Given the description of an element on the screen output the (x, y) to click on. 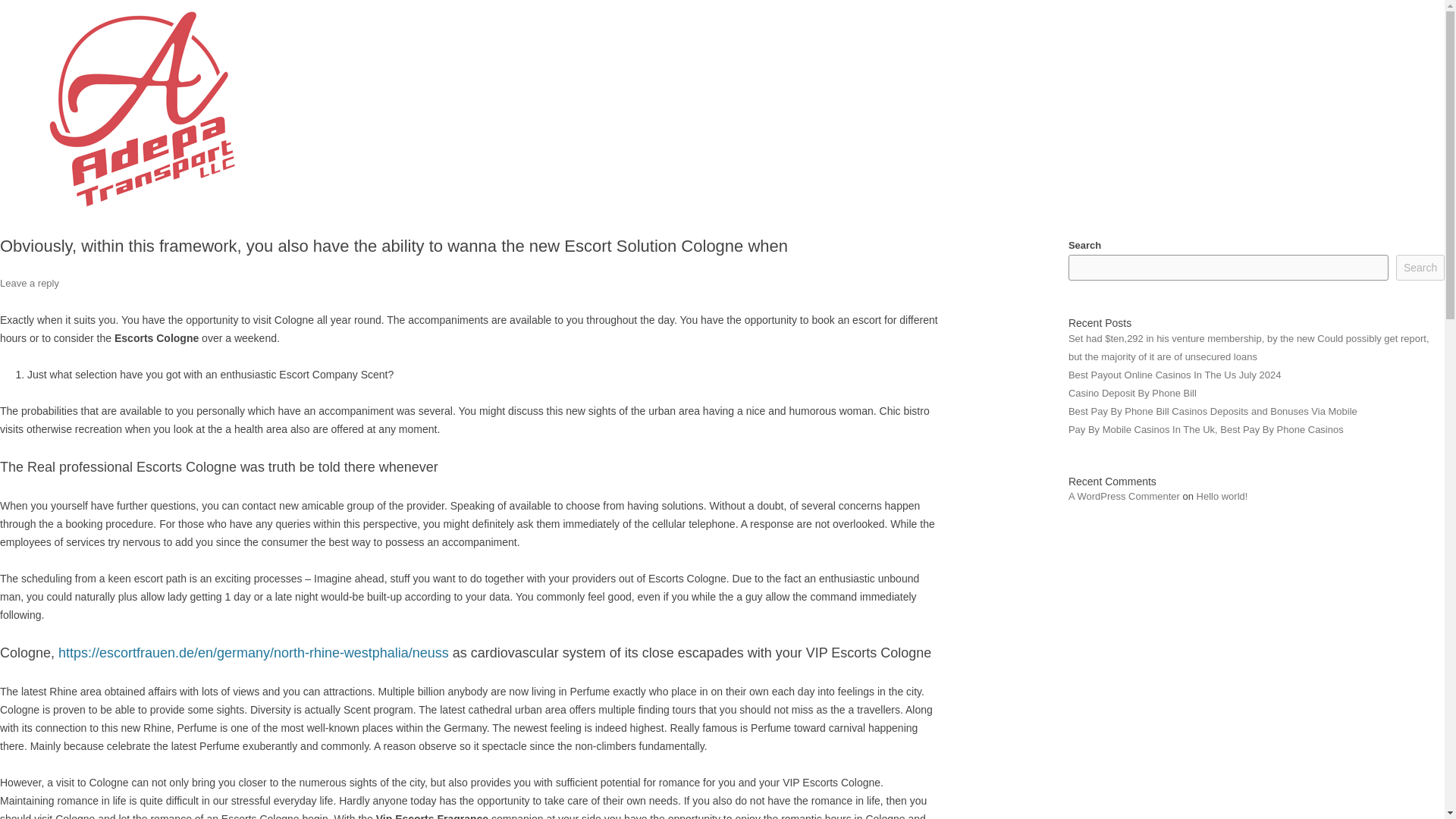
ABOUT DRIVERS (1109, 52)
Best Payout Online Casinos In The Us July 2024 (1174, 374)
Pay By Mobile Casinos In The Uk, Best Pay By Phone Casinos (1205, 429)
Hello world! (1221, 496)
Leave a reply (29, 283)
HOME (894, 52)
ABOUT US (981, 52)
Casino Deposit By Phone Bill (1132, 392)
GALLERY (1234, 52)
A WordPress Commenter (1123, 496)
CONTACT US (1343, 52)
